Given the description of an element on the screen output the (x, y) to click on. 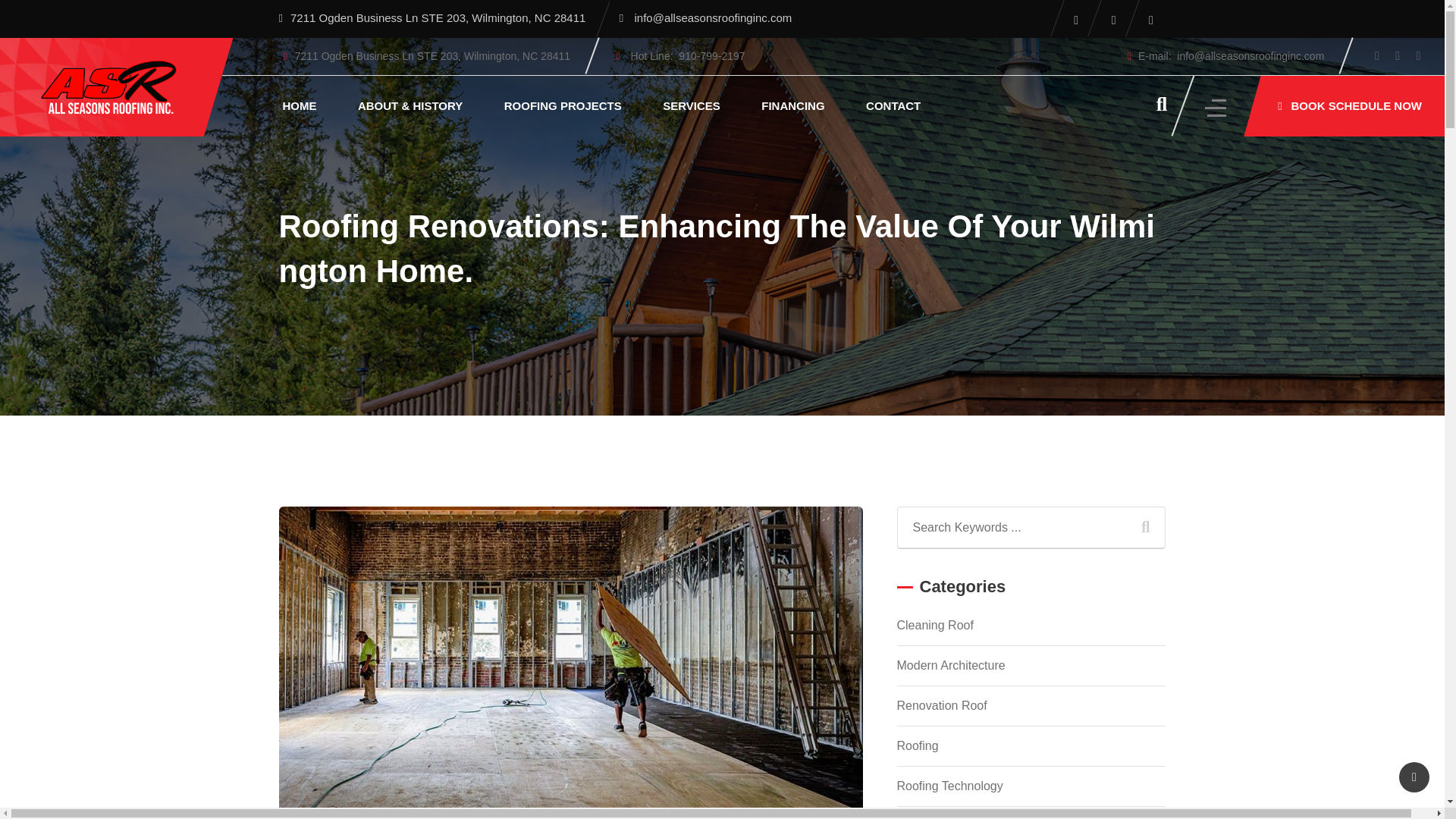
SERVICES (691, 106)
Hot Line:  910-799-2197 (687, 55)
CONTACT (892, 106)
HOME (299, 106)
ROOFING PROJECTS (563, 106)
FINANCING (792, 106)
